Given the description of an element on the screen output the (x, y) to click on. 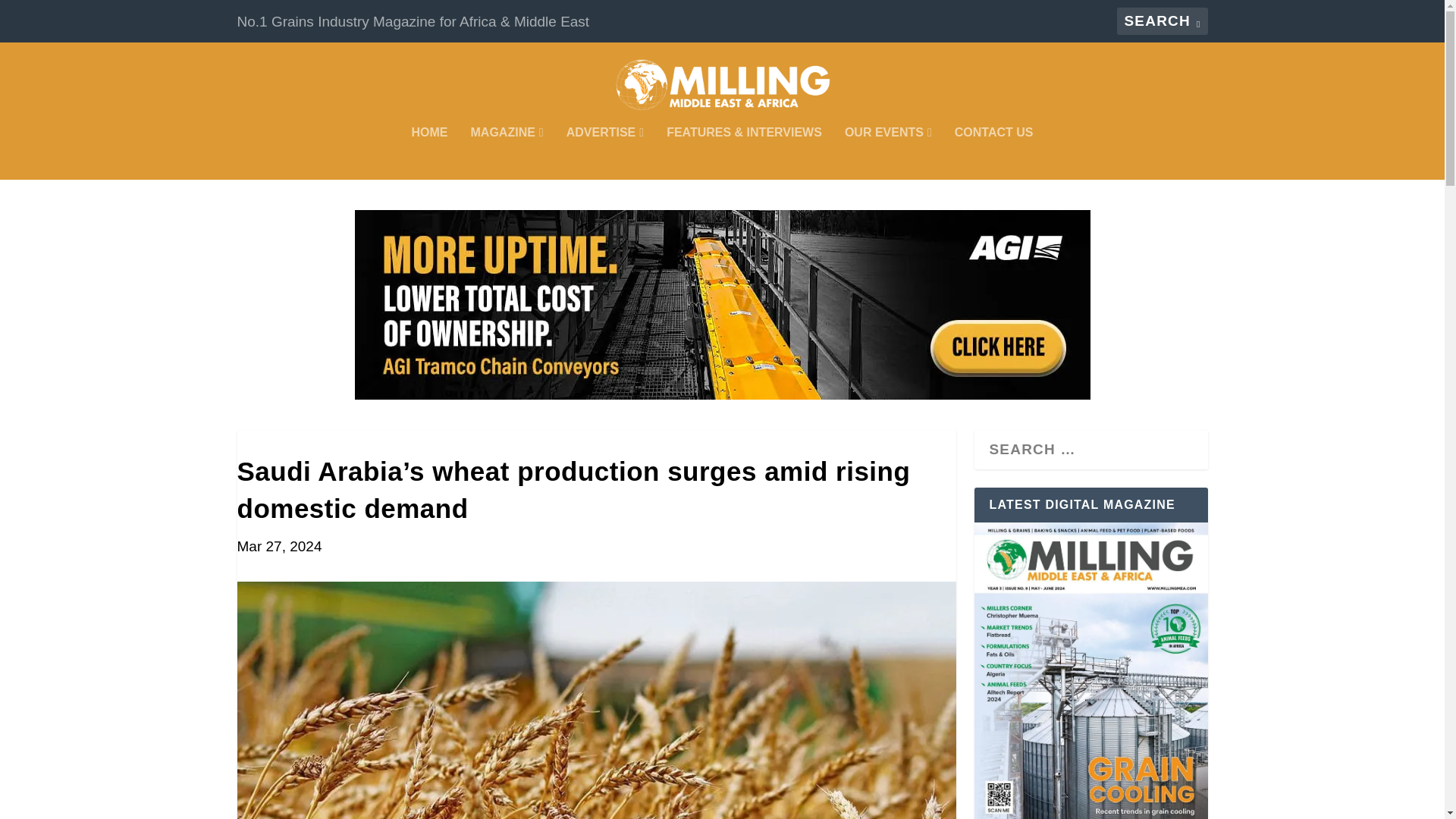
Search for: (1161, 21)
OUR EVENTS (887, 152)
CONTACT US (994, 152)
ADVERTISE (604, 152)
MAGAZINE (506, 152)
